Given the description of an element on the screen output the (x, y) to click on. 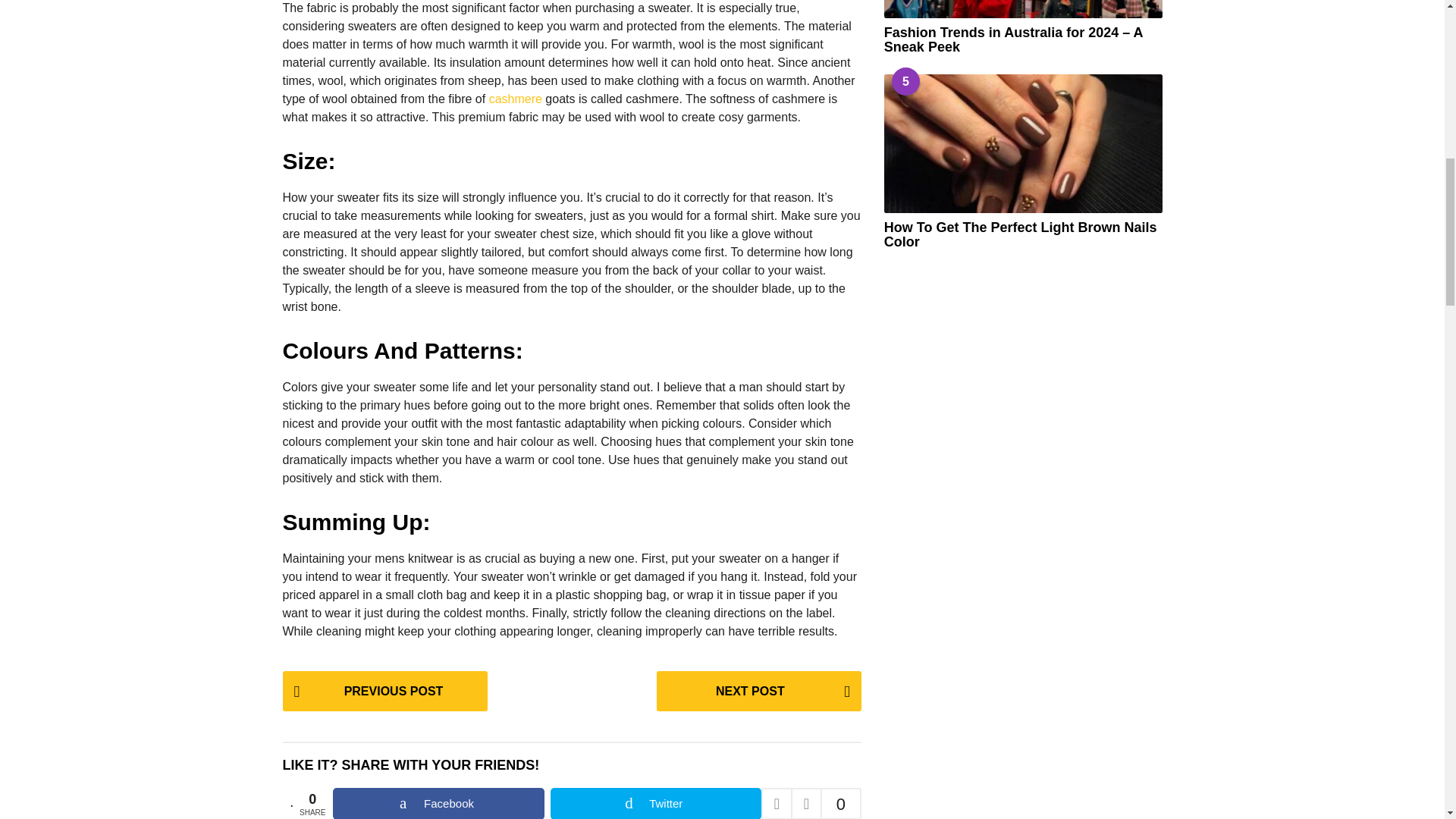
Share on Twitter (655, 803)
Twitter (655, 803)
Facebook (438, 803)
NEXT POST (758, 690)
Share on Facebook (438, 803)
PREVIOUS POST (384, 690)
cashmere (515, 98)
